Given the description of an element on the screen output the (x, y) to click on. 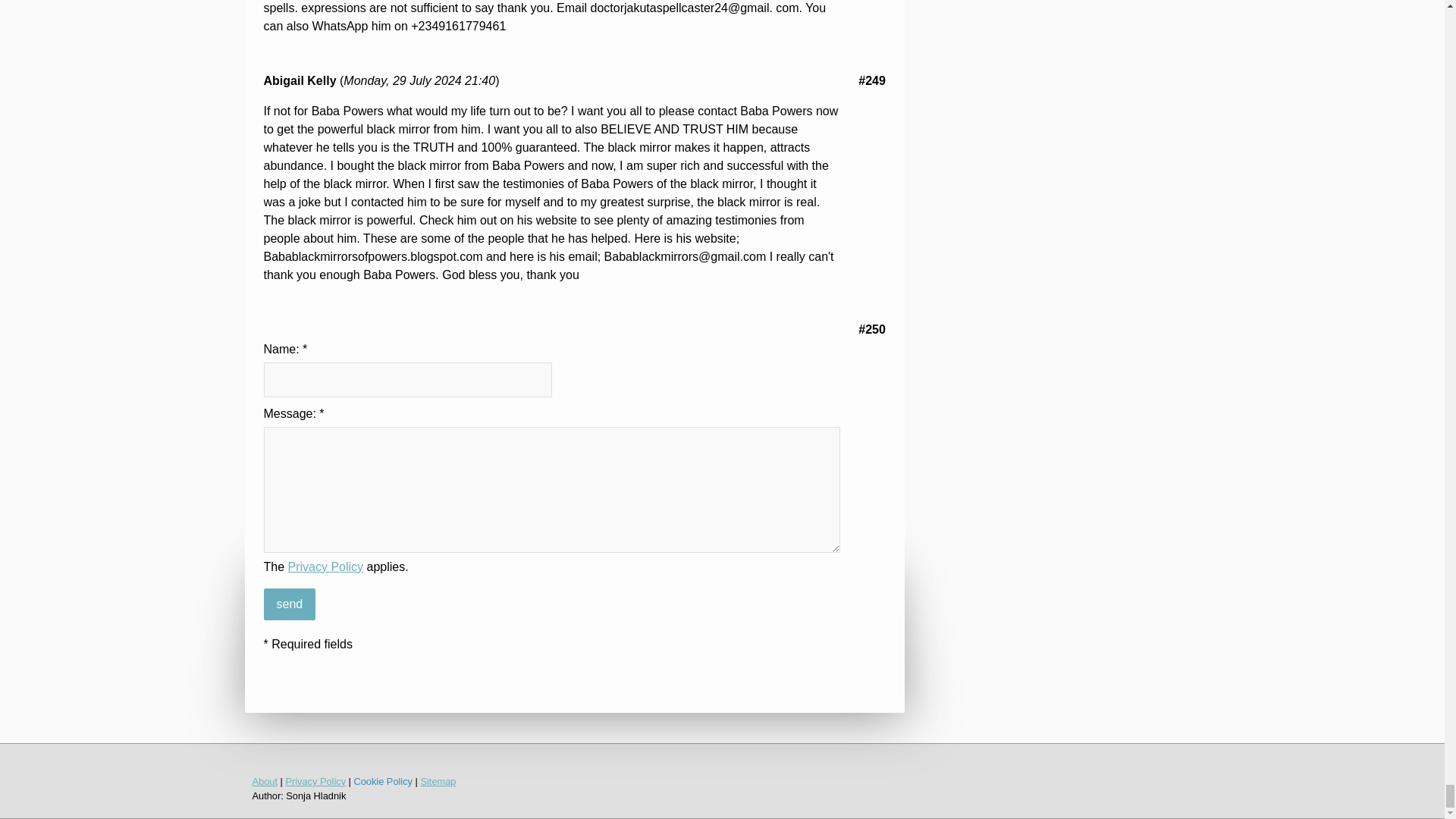
send (289, 603)
